Given the description of an element on the screen output the (x, y) to click on. 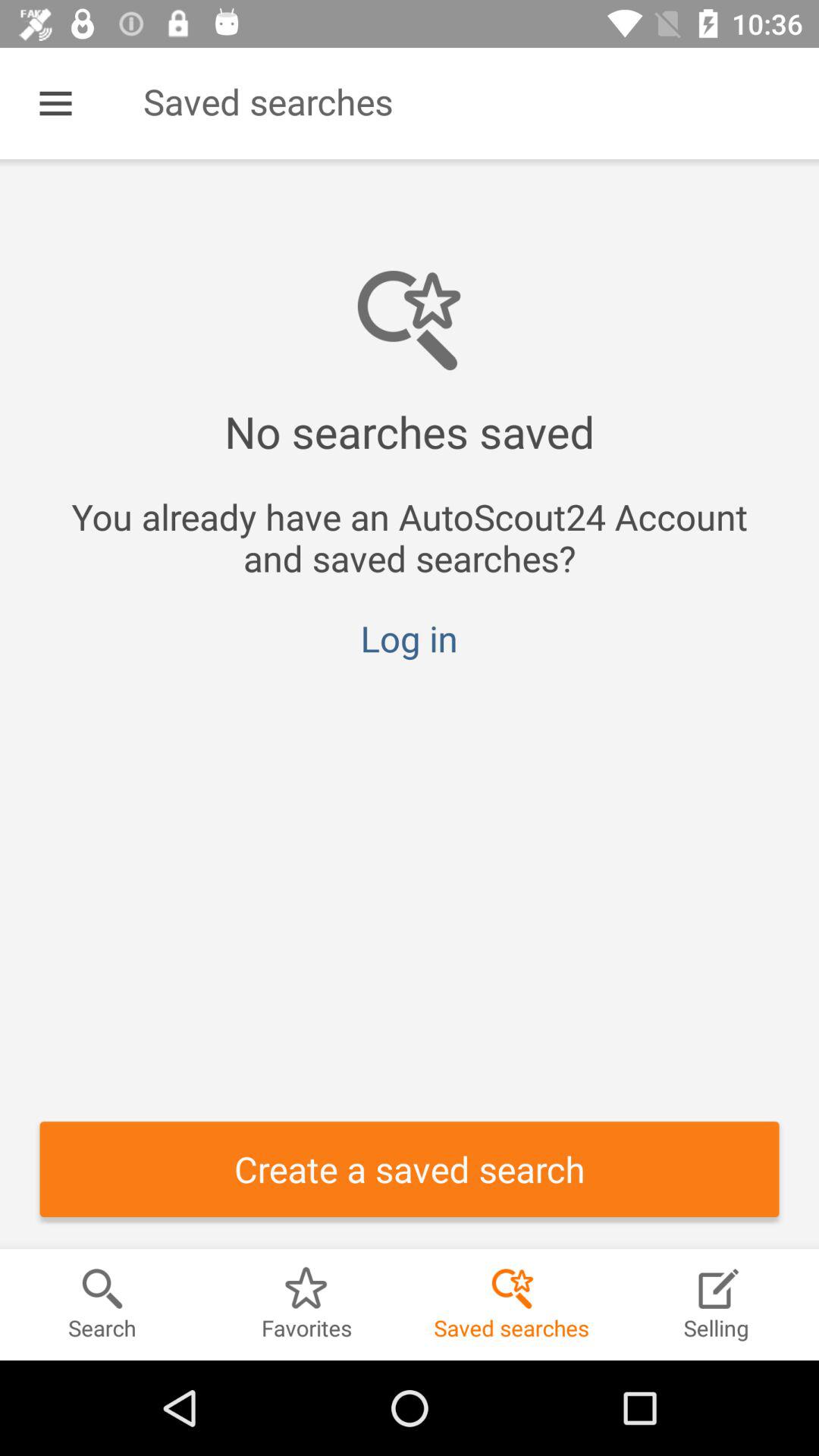
choose the icon next to saved searches item (55, 103)
